Given the description of an element on the screen output the (x, y) to click on. 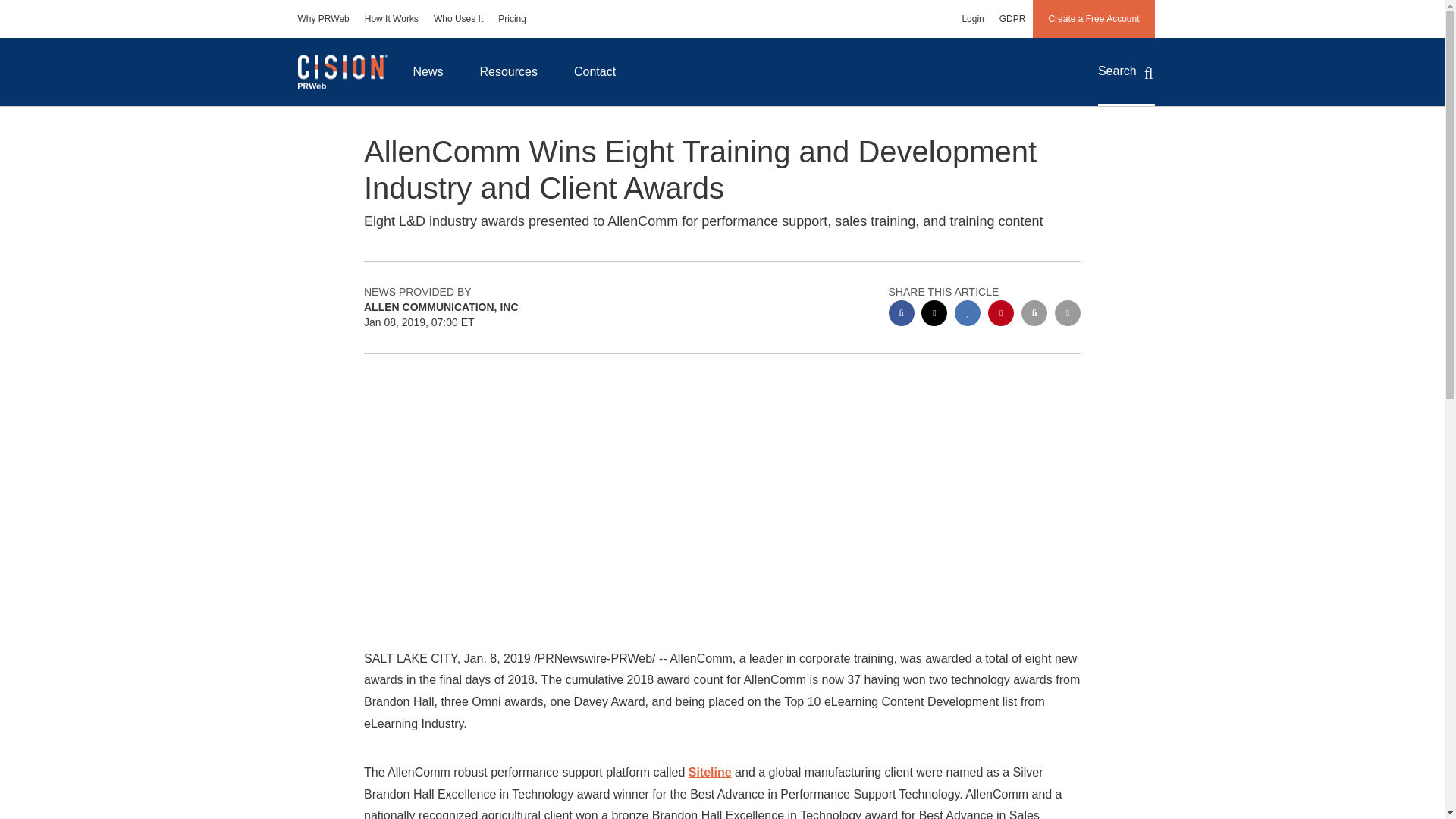
How It Works (391, 18)
Contact (594, 71)
GDPR (1012, 18)
Pricing (512, 18)
Create a Free Account (1093, 18)
Resources (508, 71)
Who Uses It (458, 18)
News (427, 71)
Why PRWeb (322, 18)
